Given the description of an element on the screen output the (x, y) to click on. 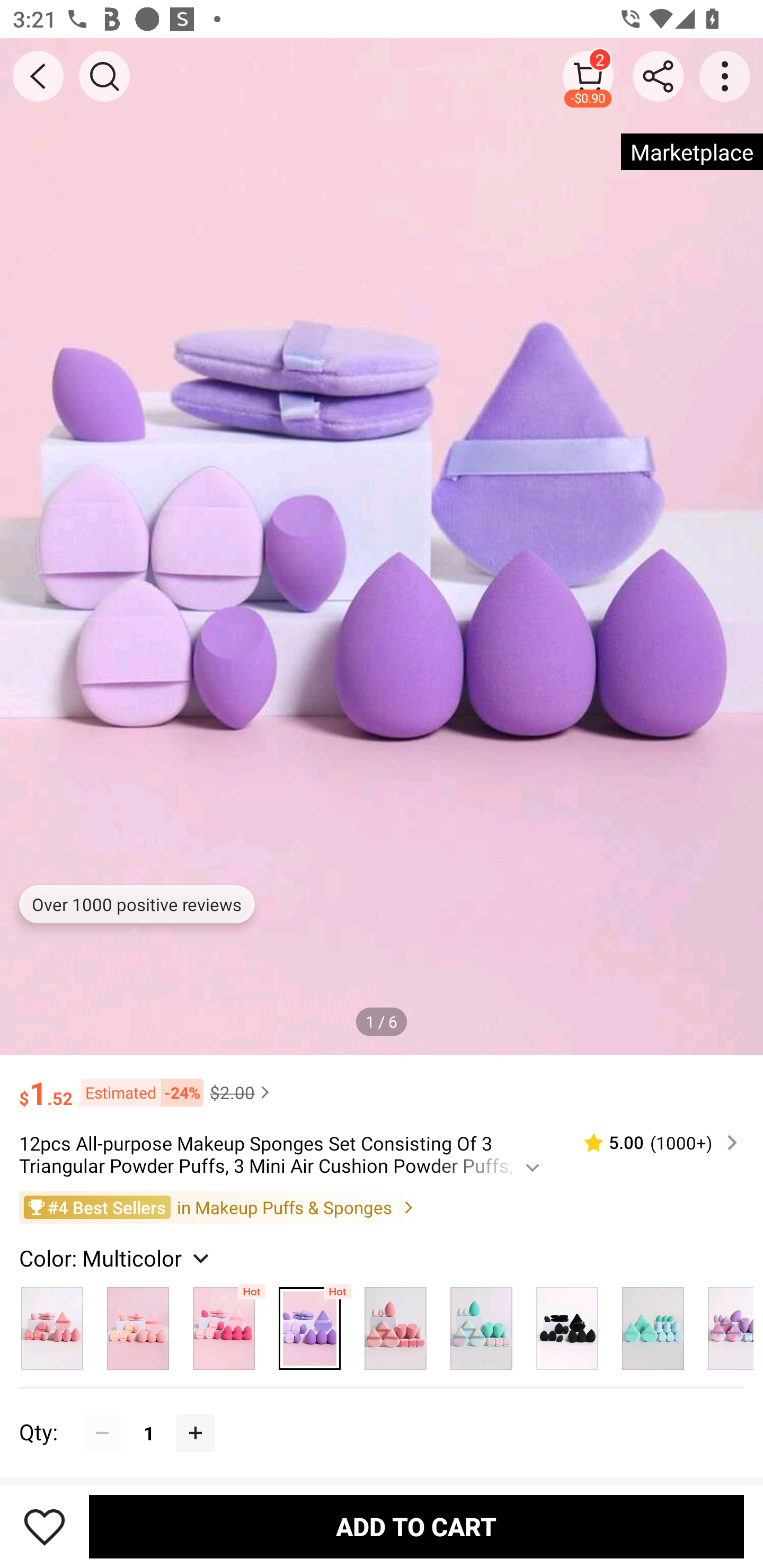
BACK (38, 75)
2 -$0.90 (588, 75)
1 / 6 (381, 1021)
$1.52 Estimated -24% $2.00 (381, 1084)
Estimated -24% (137, 1092)
$2.00 (241, 1091)
5.00 (1000‎+) (653, 1142)
#4 Best Sellers in Makeup Puffs & Sponges (381, 1206)
Color: Multicolor (116, 1258)
Multicolor (52, 1324)
Pink (138, 1324)
Multicolor (224, 1324)
Multicolor (309, 1324)
Multicolor (395, 1324)
Multicolor (481, 1324)
Multicolor (567, 1324)
Multicolor (652, 1324)
Qty: 1 (381, 1413)
ADD TO CART (416, 1526)
Save (44, 1526)
